Given the description of an element on the screen output the (x, y) to click on. 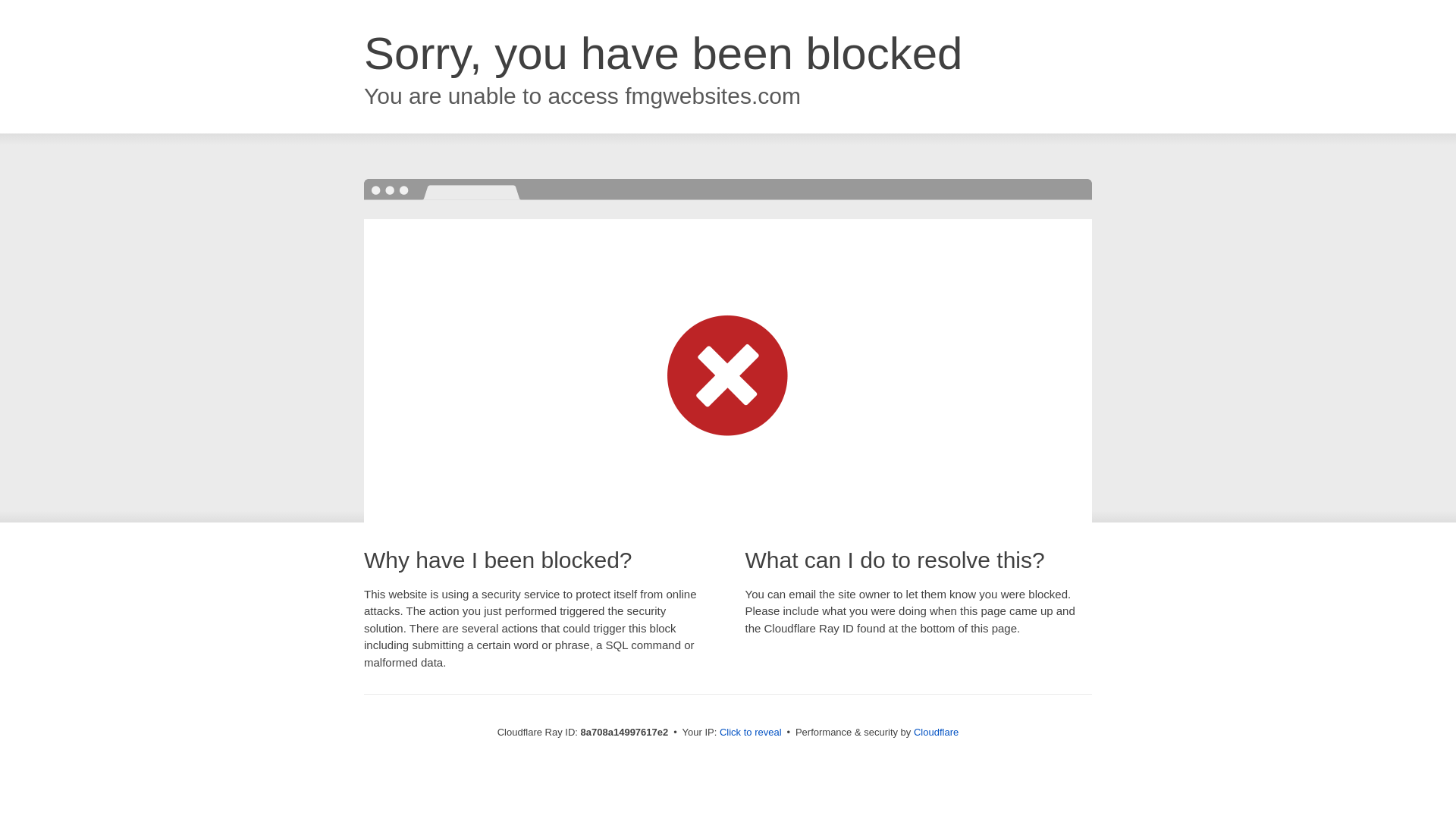
Cloudflare (936, 731)
Click to reveal (750, 732)
